Given the description of an element on the screen output the (x, y) to click on. 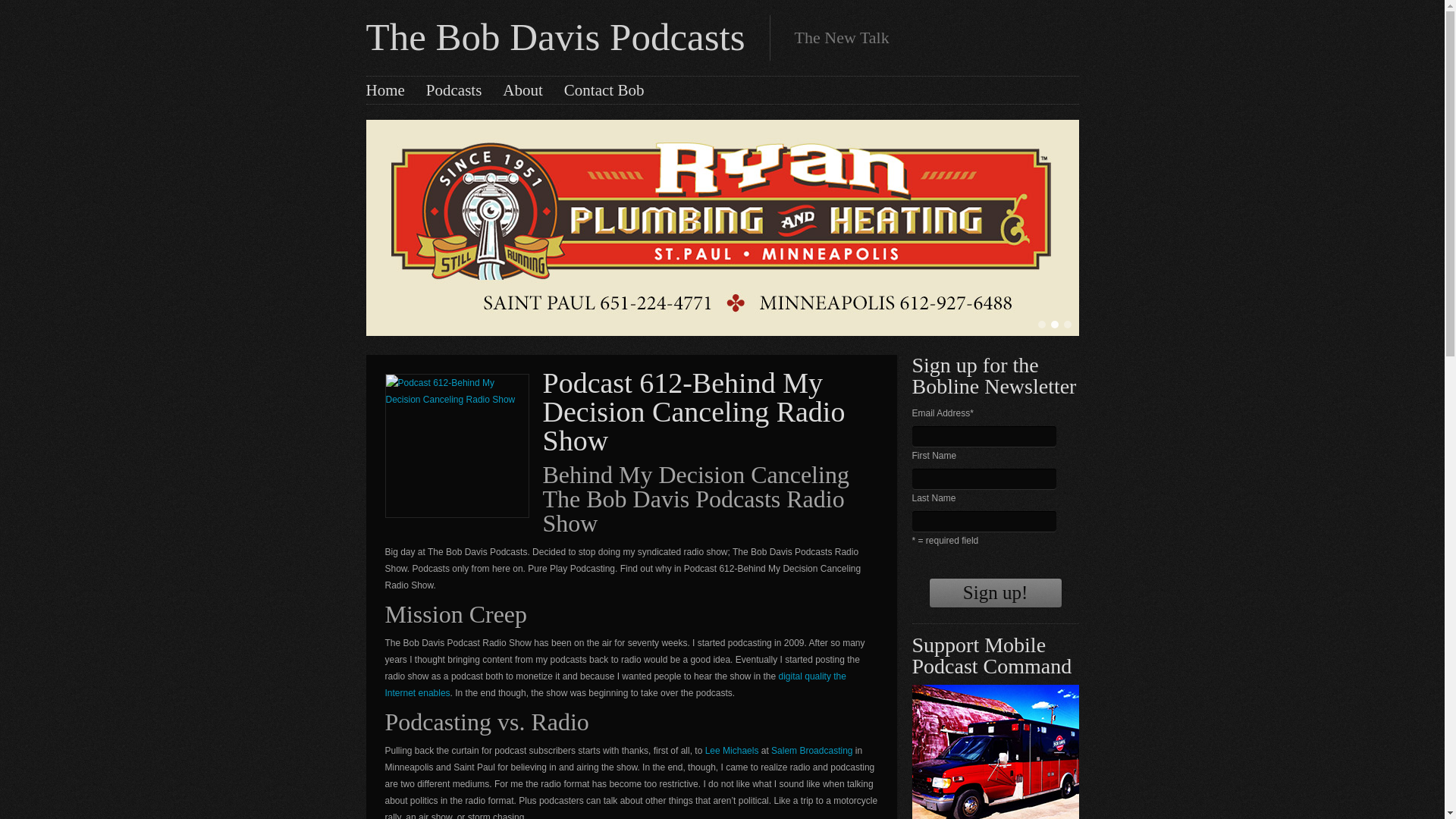
Home (384, 89)
Contact Bob (604, 89)
Podcasts (453, 89)
Podcast 612-Behind My Decision Canceling Radio Show (694, 411)
The Bob Davis Podcasts (554, 36)
The Bob Davis Podcasts (554, 36)
1 (1040, 324)
digital quality the Internet enables (615, 684)
Sign up! (994, 593)
2 (1054, 324)
Lee Michaels (731, 750)
Salem Broadcasting (811, 750)
About (522, 89)
Listen to the Bob Davis Podcasts (453, 89)
Podcast 612-Behind My Decision Canceling Radio Show (694, 411)
